Given the description of an element on the screen output the (x, y) to click on. 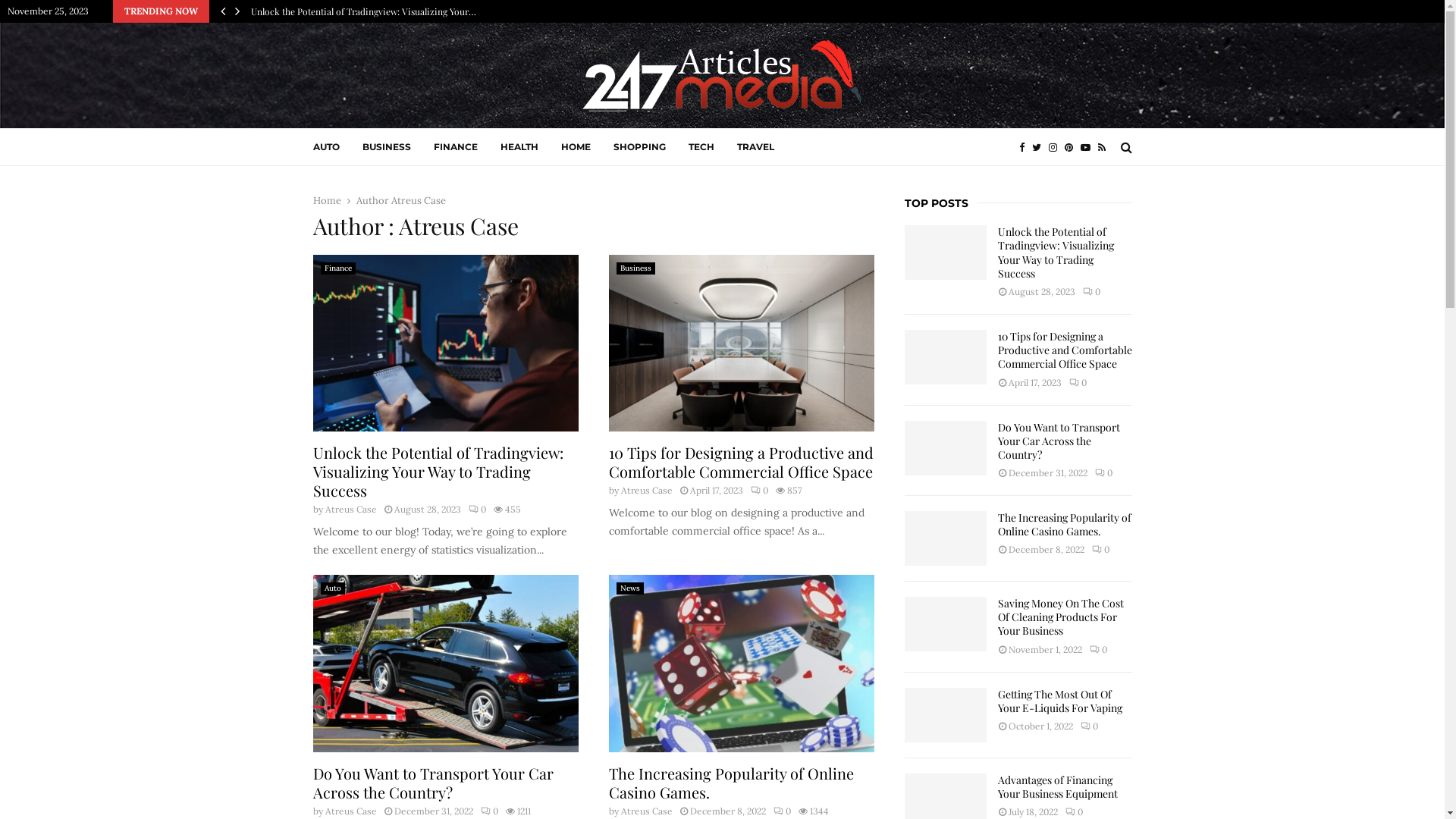
August 28, 2023 Element type: text (427, 508)
AUTO Element type: text (325, 147)
The Increasing Popularity of Online Casino Games. Element type: hover (944, 538)
The Increasing Popularity of Online Casino Games. Element type: text (1064, 524)
0 Element type: text (759, 489)
Atreus Case Element type: text (350, 508)
Getting The Most Out Of Your E-Liquids For Vaping Element type: text (1059, 701)
Atreus Case Element type: text (645, 810)
Do You Want to Transport Your Car Across the Country? Element type: text (1058, 440)
Author Element type: text (373, 200)
Twitter Element type: hover (1039, 147)
December 31, 2022 Element type: text (433, 810)
Business Element type: text (634, 268)
0 Element type: text (1073, 811)
Home Element type: text (326, 200)
Facebook Element type: hover (1025, 147)
News Element type: text (629, 588)
April 17, 2023 Element type: text (716, 489)
Do You Want to Transport Your Car Across the Country? Element type: text (432, 782)
FINANCE Element type: text (455, 147)
0 Element type: text (477, 508)
Youtube Element type: hover (1088, 147)
0 Element type: text (1077, 381)
Atreus Case Element type: text (350, 810)
HEALTH Element type: text (519, 147)
Atreus Case Element type: text (418, 200)
Do You Want to Transport Your Car Across the Country? Element type: hover (944, 447)
Rss Element type: hover (1105, 147)
The Increasing Popularity of Online Casino Games. Element type: text (730, 782)
Atreus Case Element type: text (645, 489)
0 Element type: text (1097, 649)
Auto Element type: text (332, 588)
0 Element type: text (1091, 291)
0 Element type: text (1103, 472)
Instagram Element type: hover (1055, 147)
HOME Element type: text (575, 147)
TECH Element type: text (701, 147)
TRAVEL Element type: text (755, 147)
Pinterest Element type: hover (1072, 147)
BUSINESS Element type: text (386, 147)
December 8, 2022 Element type: text (727, 810)
Advantages of Financing Your Business Equipment Element type: text (1057, 786)
Getting The Most Out Of Your E-Liquids For Vaping Element type: hover (944, 714)
0 Element type: text (1088, 725)
0 Element type: text (781, 810)
0 Element type: text (489, 810)
Finance Element type: text (337, 268)
SHOPPING Element type: text (638, 147)
0 Element type: text (1100, 549)
